Given the description of an element on the screen output the (x, y) to click on. 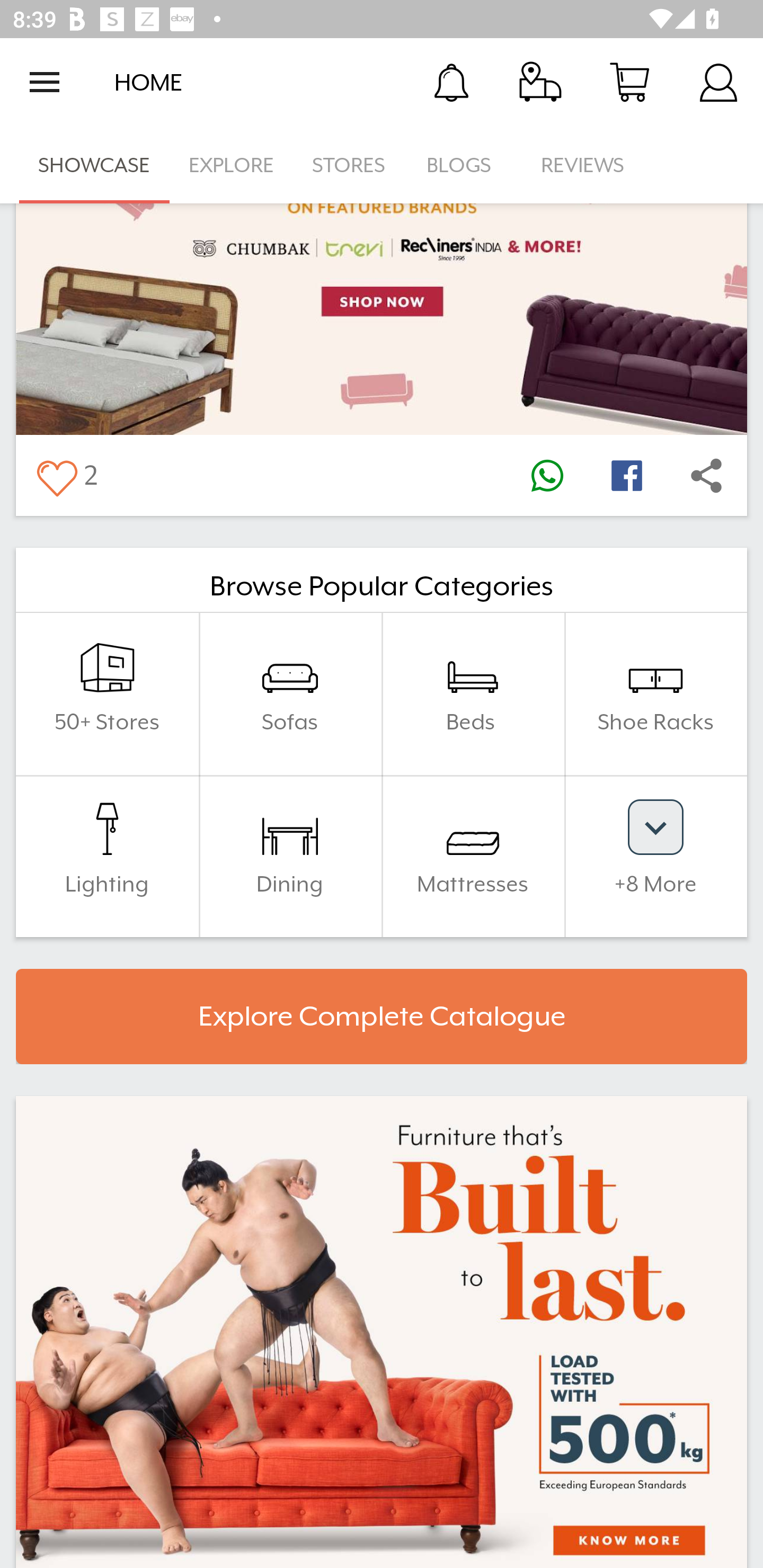
Open navigation drawer (44, 82)
Notification (450, 81)
Track Order (540, 81)
Cart (629, 81)
Account Details (718, 81)
SHOWCASE (94, 165)
EXPLORE (230, 165)
STORES (349, 165)
BLOGS (464, 165)
REVIEWS (582, 165)
 (55, 474)
 (547, 474)
 (626, 474)
 (706, 474)
50+ Stores (106, 693)
Sofas (289, 693)
Beds  (473, 693)
Shoe Racks (655, 693)
Lighting (106, 856)
Dining (289, 856)
Mattresses (473, 856)
 +8 More (655, 856)
Explore Complete Catalogue (381, 1016)
